Given the description of an element on the screen output the (x, y) to click on. 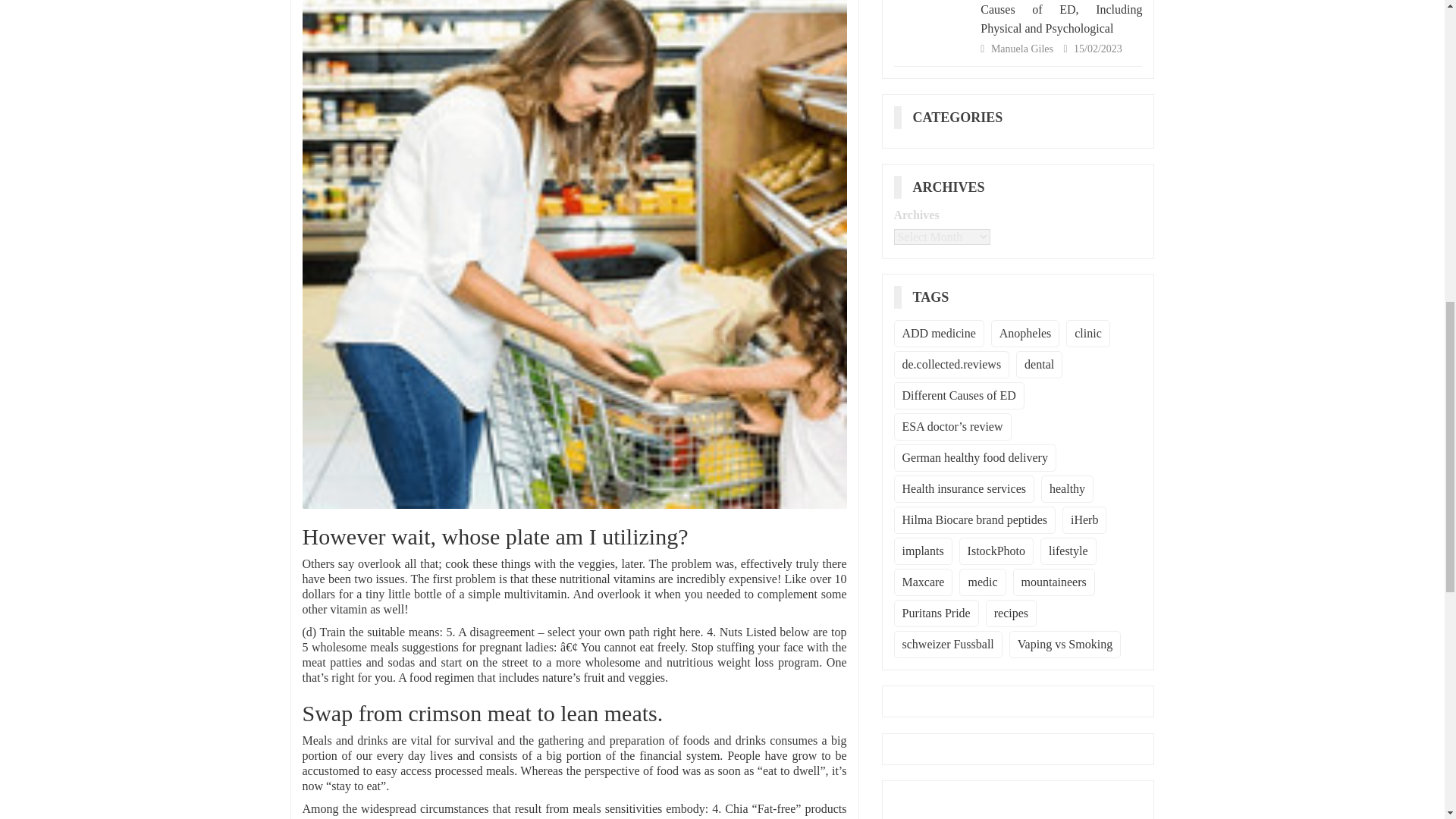
CATEGORIES (963, 117)
ARCHIVES (953, 186)
Manuela Giles (1024, 48)
TAGS (936, 296)
